Given the description of an element on the screen output the (x, y) to click on. 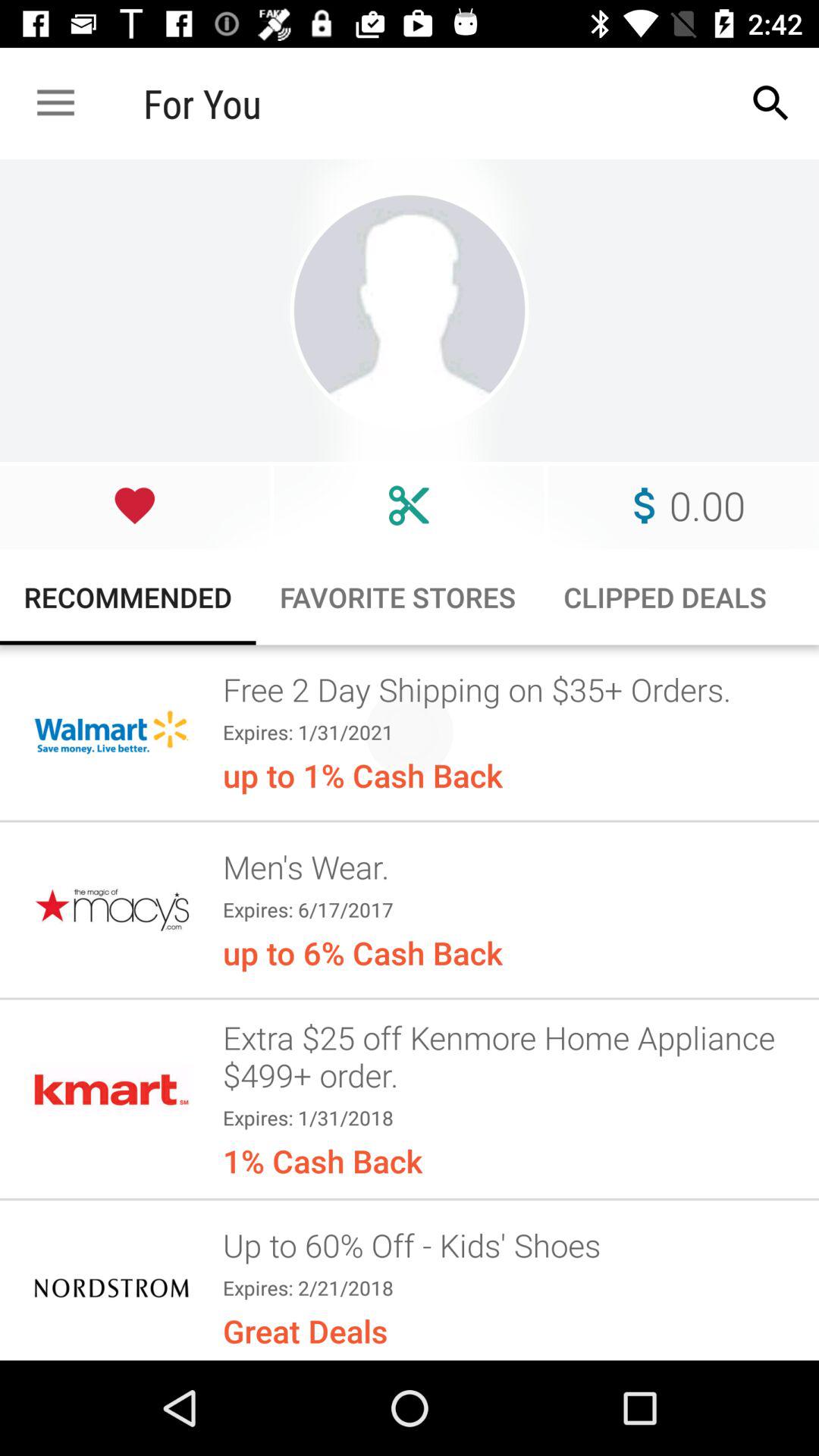
turn on icon to the right of the for you (771, 103)
